Given the description of an element on the screen output the (x, y) to click on. 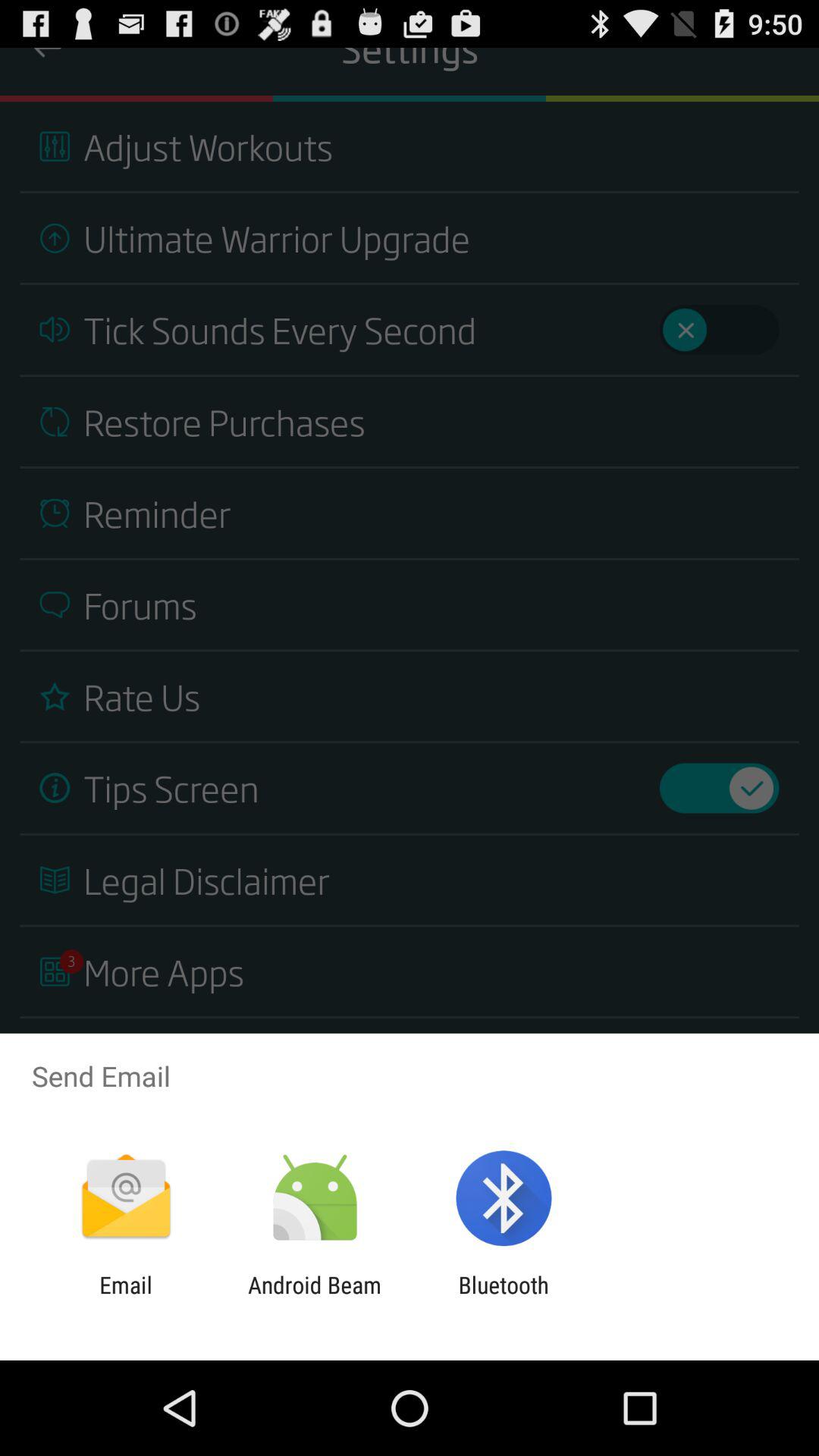
tap bluetooth icon (503, 1298)
